Given the description of an element on the screen output the (x, y) to click on. 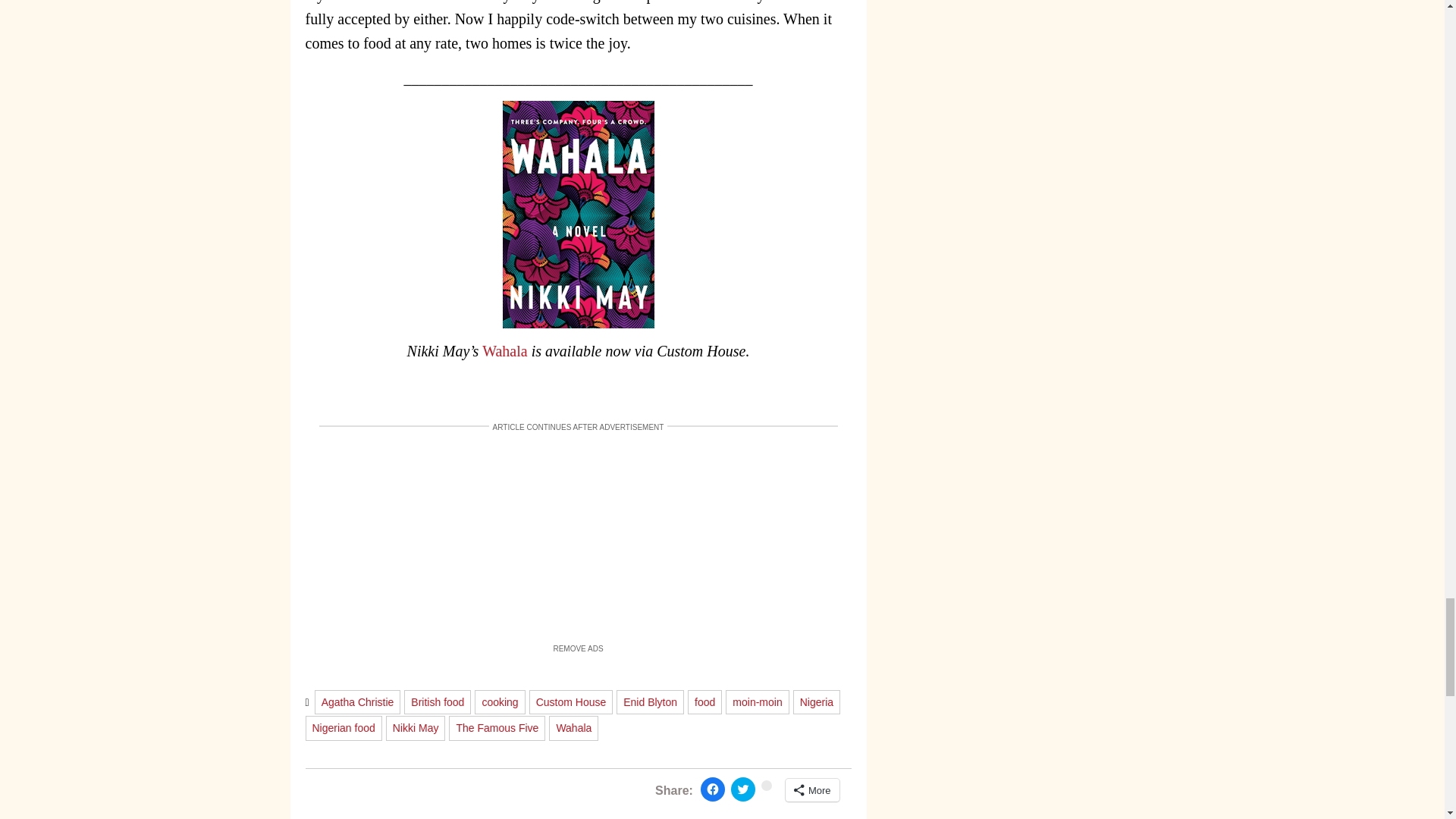
Click to share on Twitter (742, 789)
Share on Facebook (712, 789)
